Given the description of an element on the screen output the (x, y) to click on. 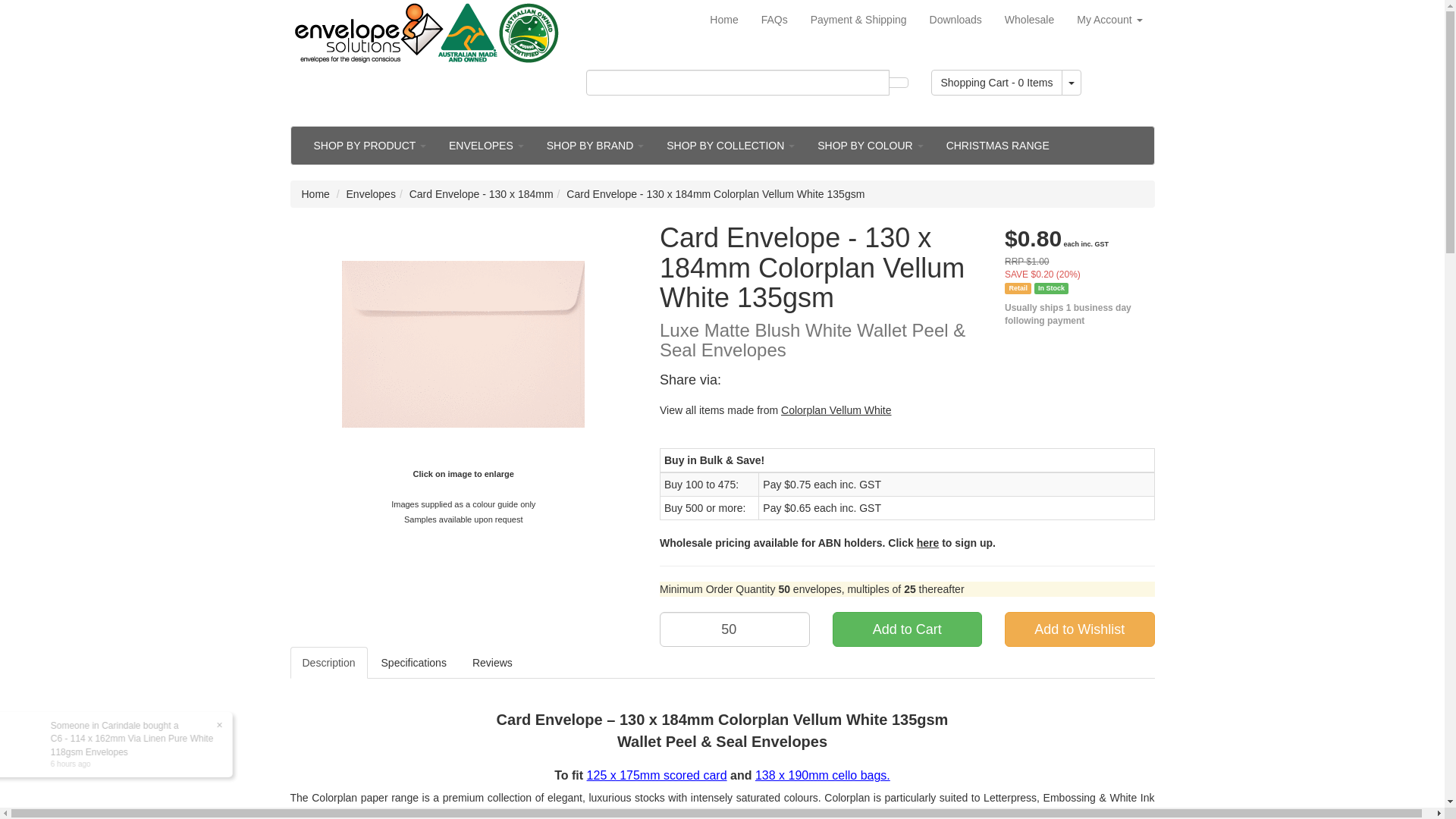
here Element type: text (927, 542)
ENVELOPES Element type: text (486, 145)
Card Envelope - 130 x 184mm Colorplan Vellum White 135gsm Element type: text (715, 194)
My Account Element type: text (1109, 19)
Downloads Element type: text (955, 19)
Add to Cart Element type: text (907, 628)
125 x 175mm scored card Element type: text (656, 774)
Card Envelope - 130 x 184mm Element type: text (481, 194)
SHOP BY BRAND Element type: text (595, 145)
Reviews Element type: text (492, 662)
Home Element type: text (315, 194)
Add to Wishlist Element type: text (1079, 628)
138 x 190mm cello bags. Element type: text (822, 774)
Description Element type: text (328, 662)
CHRISTMAS RANGE Element type: text (997, 145)
Envelope Solutions Pty Ltd Element type: hover (425, 33)
Specifications Element type: text (413, 662)
SHOP BY COLLECTION Element type: text (730, 145)
Colorplan Vellum White Element type: text (836, 410)
FAQs Element type: text (774, 19)
Envelopes Element type: text (370, 194)
Payment & Shipping Element type: text (858, 19)
Home Element type: text (723, 19)
Wholesale Element type: text (1029, 19)
SHOP BY COLOUR Element type: text (870, 145)
Shopping Cart - 0 Items Element type: text (997, 82)
Search Element type: text (898, 82)
SHOP BY PRODUCT Element type: text (368, 145)
